Given the description of an element on the screen output the (x, y) to click on. 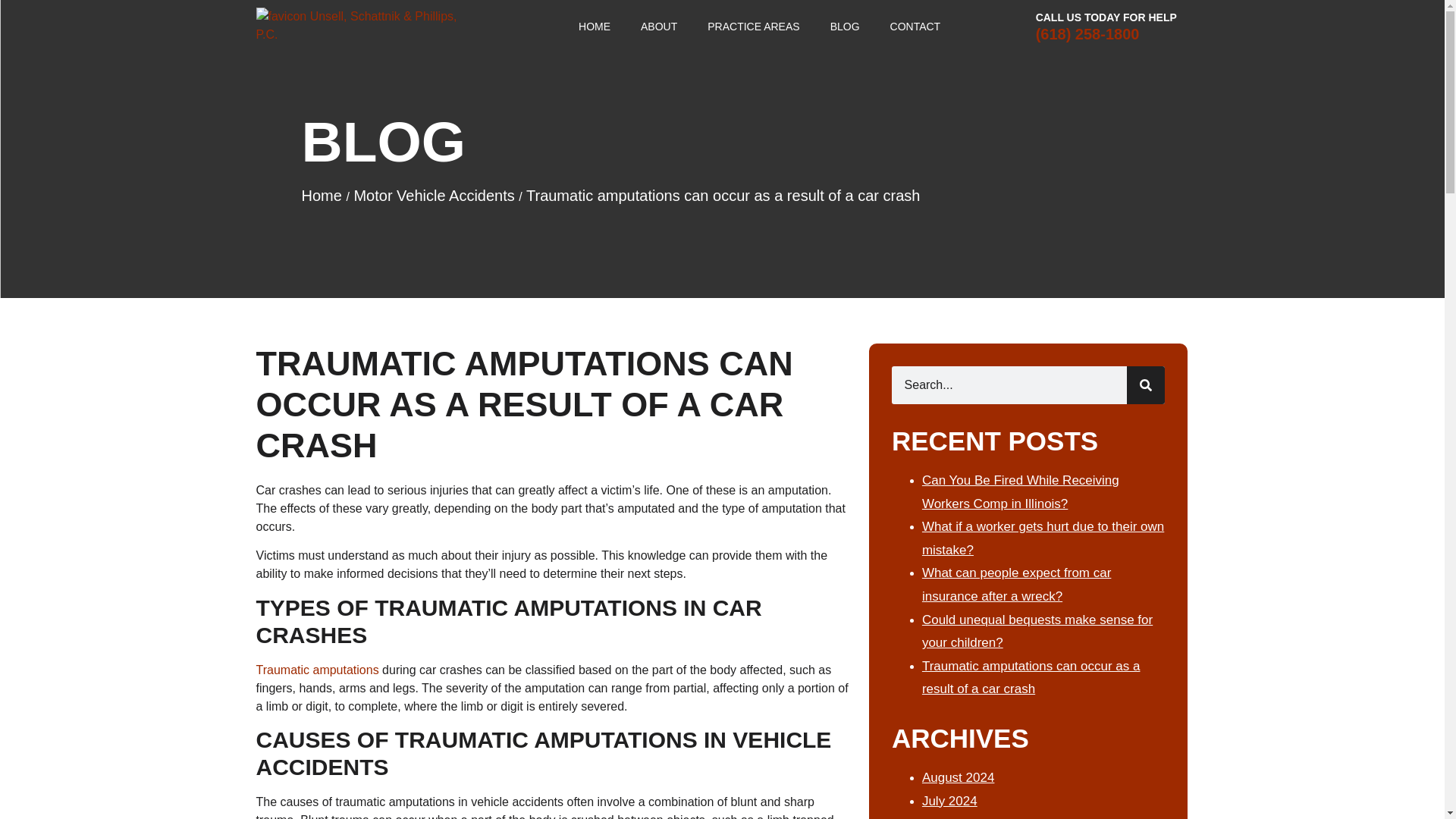
Could unequal bequests make sense for your children? (1037, 631)
Can You Be Fired While Receiving Workers Comp in Illinois? (1020, 492)
ABOUT (659, 26)
What can people expect from car insurance after a wreck? (1015, 584)
Motor Vehicle Accidents (433, 195)
PRACTICE AREAS (753, 26)
BLOG (845, 26)
HOME (594, 26)
Home (321, 195)
Traumatic amputations can occur as a result of a car crash (1030, 677)
